Given the description of an element on the screen output the (x, y) to click on. 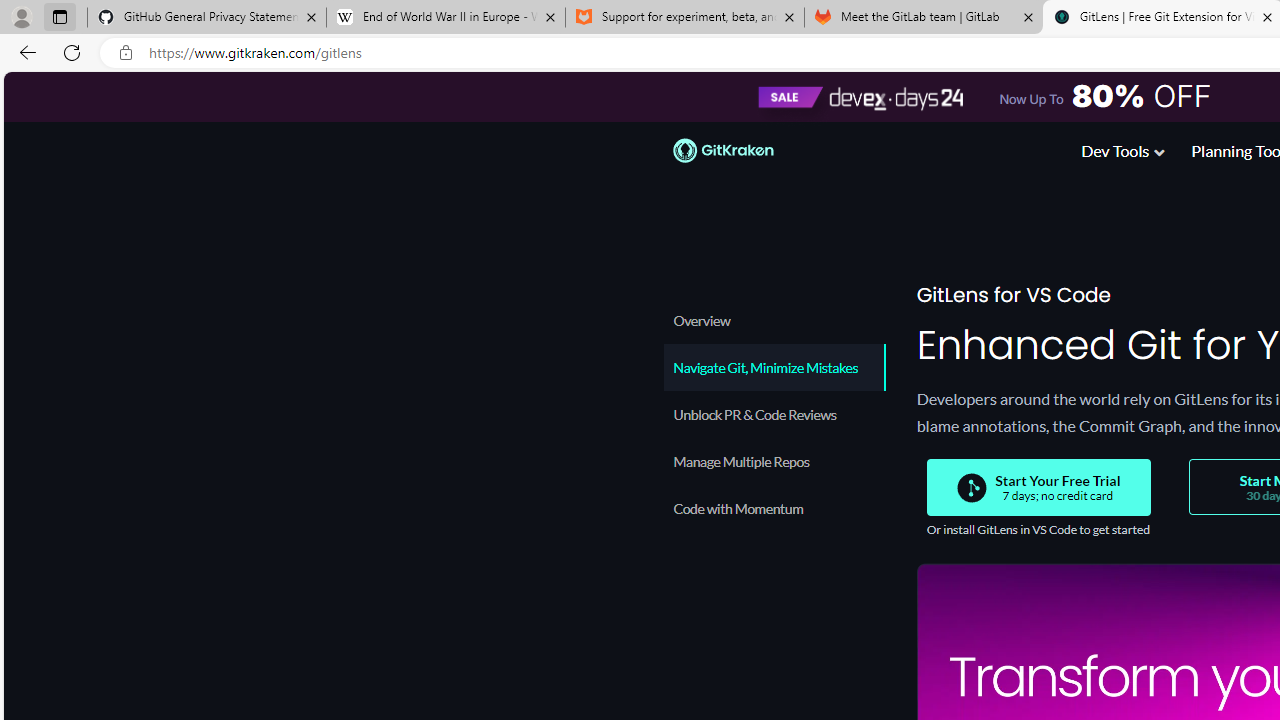
Unblock PR & Code Reviews (773, 414)
Or install GitLens in VS Code to get started (1037, 529)
Manage Multiple Repos (773, 461)
End of World War II in Europe - Wikipedia (445, 17)
Code with Momentum (773, 508)
Navigate Git, Minimize Mistakes (774, 367)
Unblock PR & Code Reviews (774, 413)
Overview (774, 320)
Overview (773, 320)
